Given the description of an element on the screen output the (x, y) to click on. 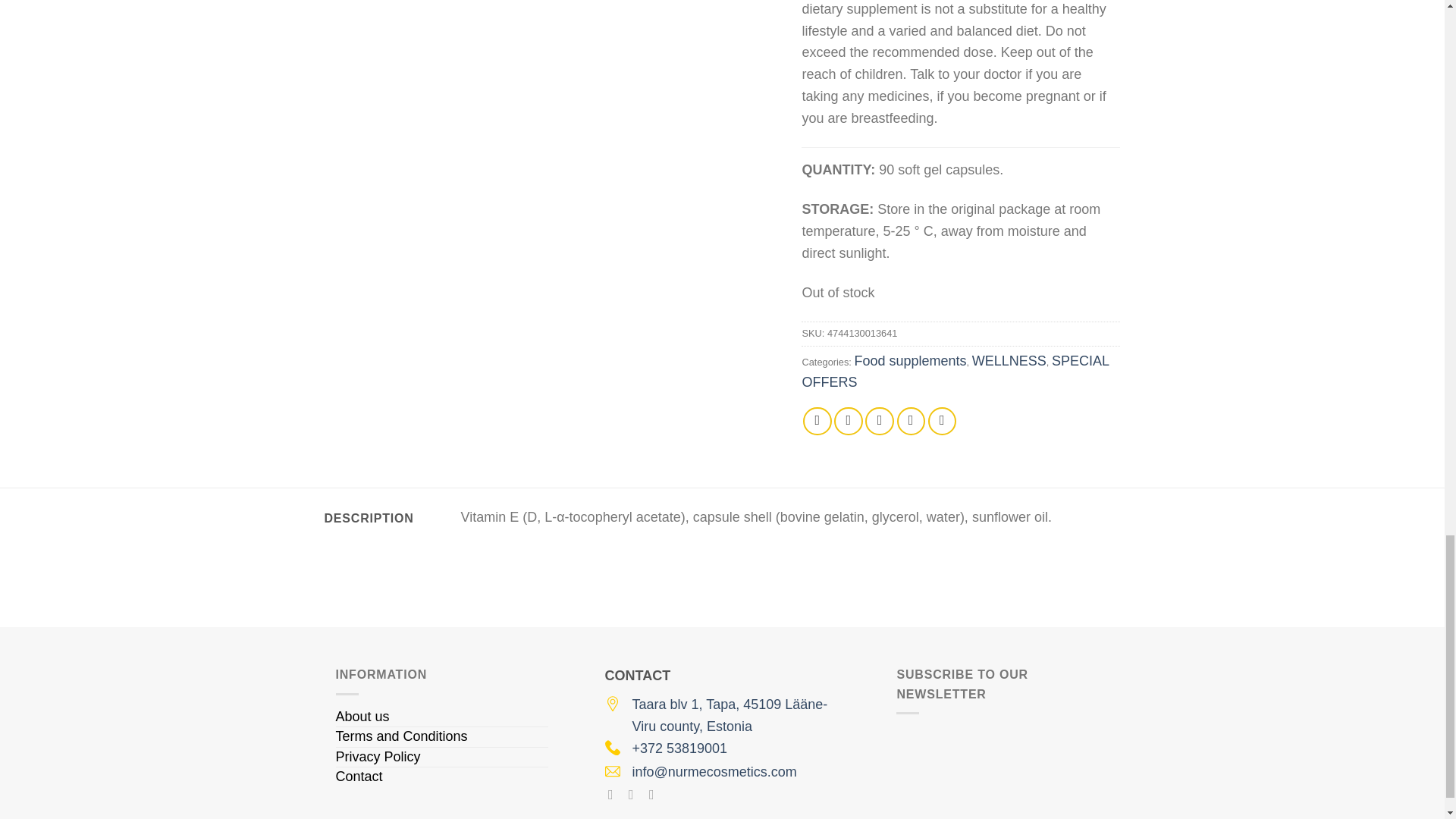
Email to a Friend (878, 421)
Share on LinkedIn (942, 421)
Pin on Pinterest (911, 421)
Share on Twitter (848, 421)
Share on Facebook (817, 421)
